Given the description of an element on the screen output the (x, y) to click on. 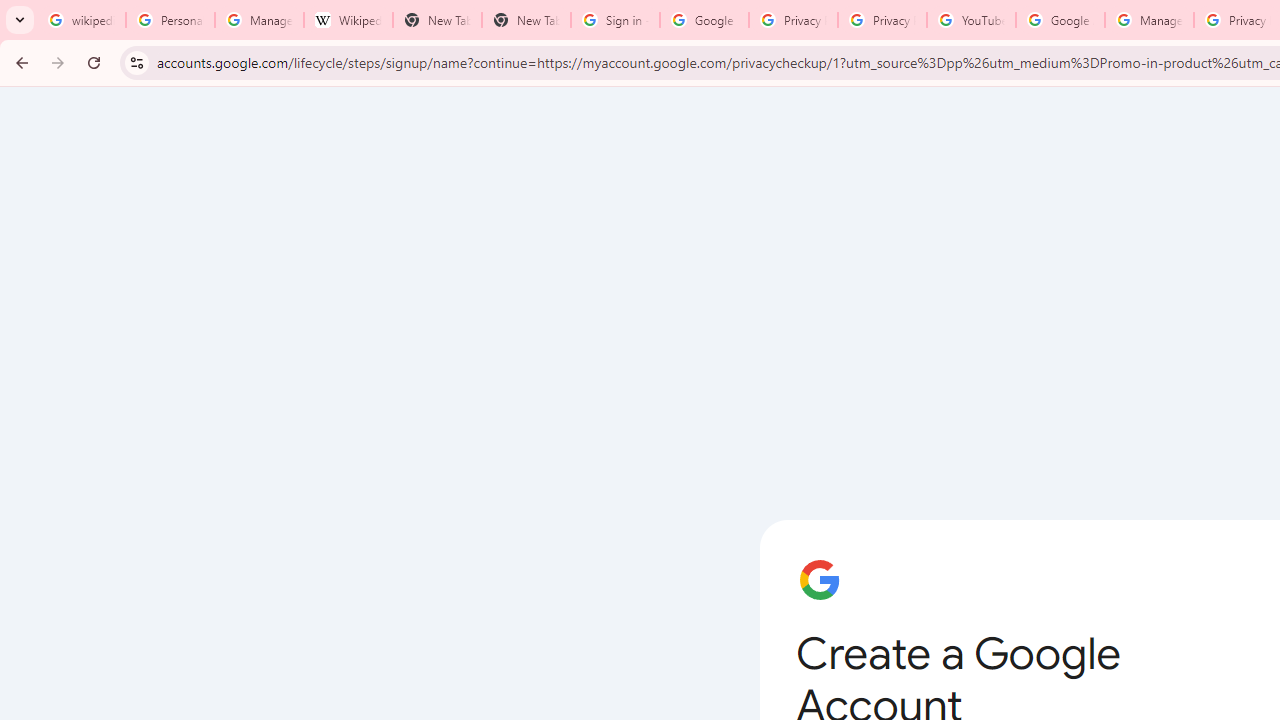
New Tab (526, 20)
YouTube (971, 20)
Personalization & Google Search results - Google Search Help (170, 20)
Manage your Location History - Google Search Help (259, 20)
New Tab (437, 20)
Google Drive: Sign-in (704, 20)
